Given the description of an element on the screen output the (x, y) to click on. 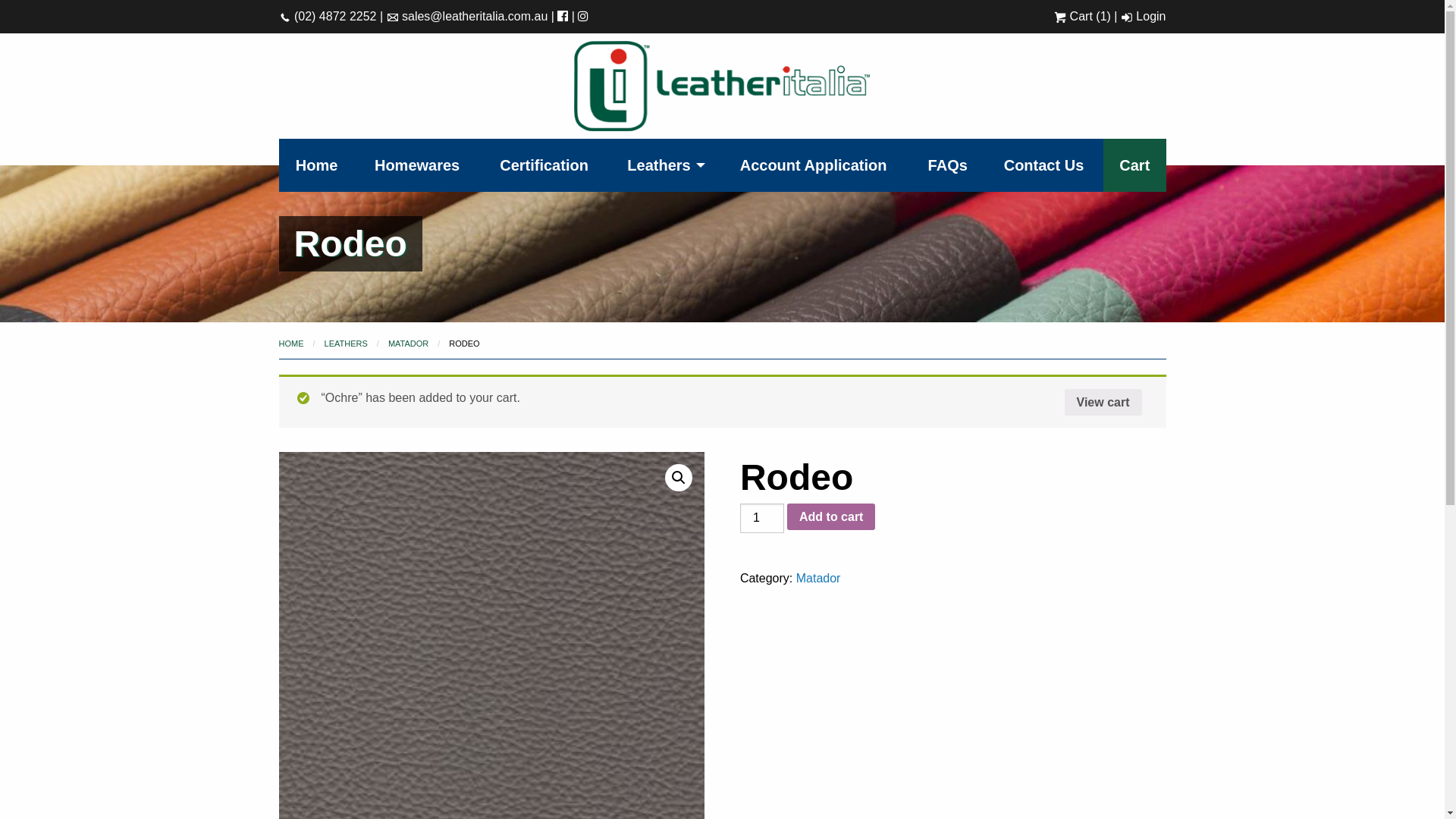
Cart (1) Element type: text (1082, 15)
Homewares Element type: text (417, 164)
Login Element type: text (1143, 15)
Qty Element type: hover (762, 518)
Matador Element type: text (818, 577)
Add to cart Element type: text (831, 516)
HOME Element type: text (291, 343)
Contact Us Element type: text (1043, 164)
(02) 4872 2252 Element type: text (327, 15)
MATADOR Element type: text (408, 343)
FAQs Element type: text (947, 164)
Home Element type: text (316, 164)
LEATHERS Element type: text (345, 343)
Account Application Element type: text (813, 164)
Certification Element type: text (544, 164)
View cart Element type: text (1103, 402)
Cart Element type: text (1134, 164)
Leathers Element type: text (661, 164)
